Given the description of an element on the screen output the (x, y) to click on. 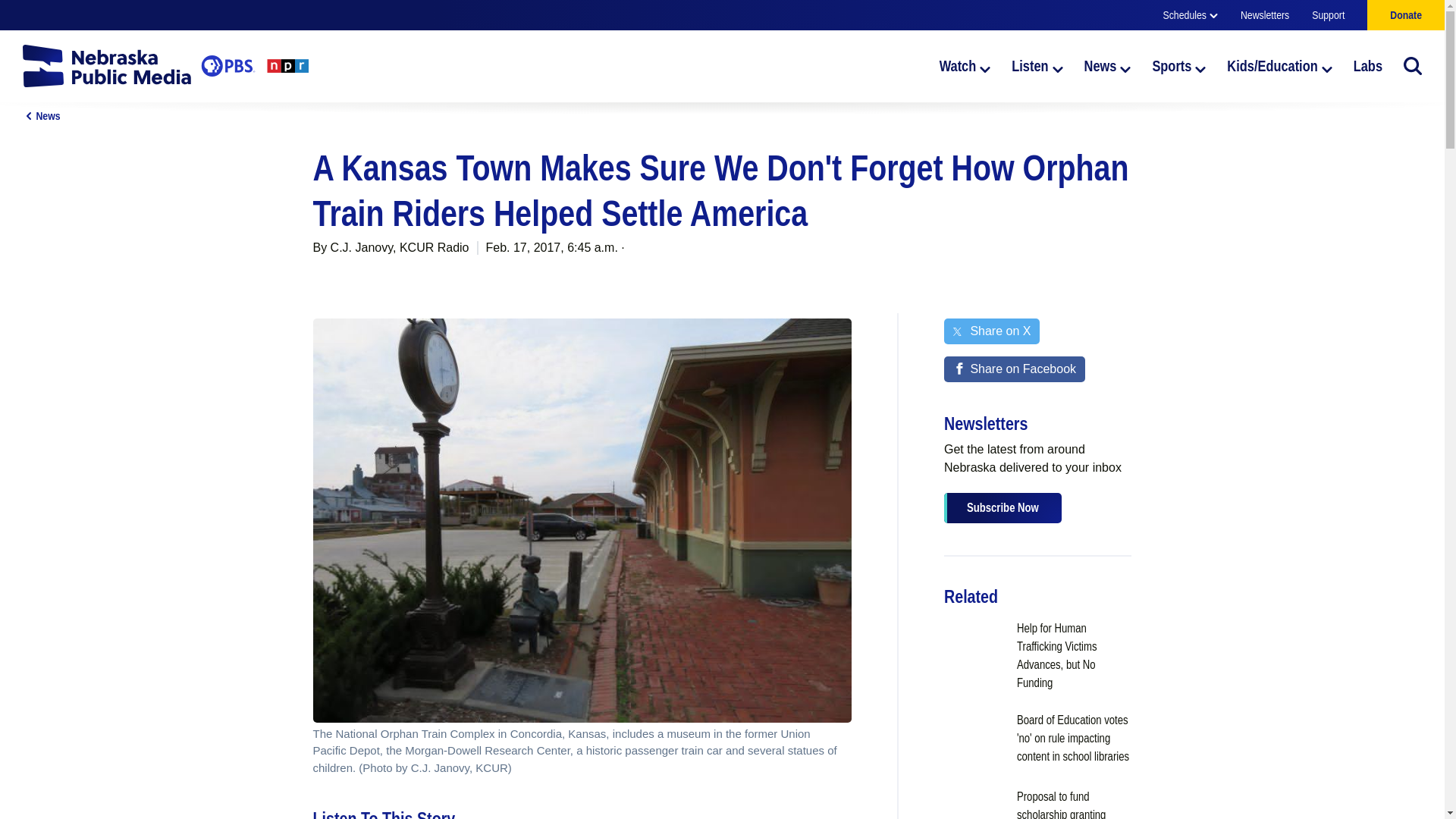
Sports (1178, 65)
Support (1327, 15)
News (1107, 65)
Listen (1036, 65)
Newsletters (1264, 15)
Schedules (1190, 15)
Watch (965, 65)
